Given the description of an element on the screen output the (x, y) to click on. 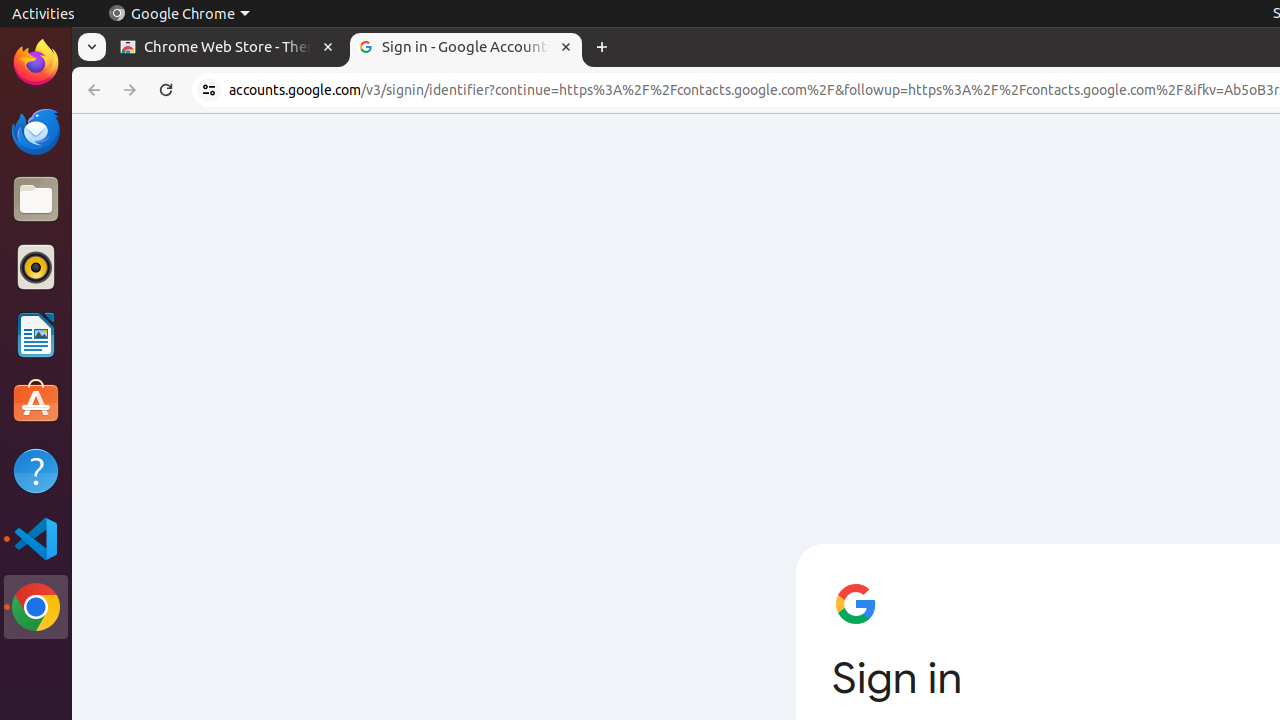
Thunderbird Mail Element type: push-button (36, 131)
View site information Element type: push-button (209, 90)
Google Chrome Element type: menu (179, 13)
Help Element type: push-button (36, 470)
Reload Element type: push-button (166, 90)
